Given the description of an element on the screen output the (x, y) to click on. 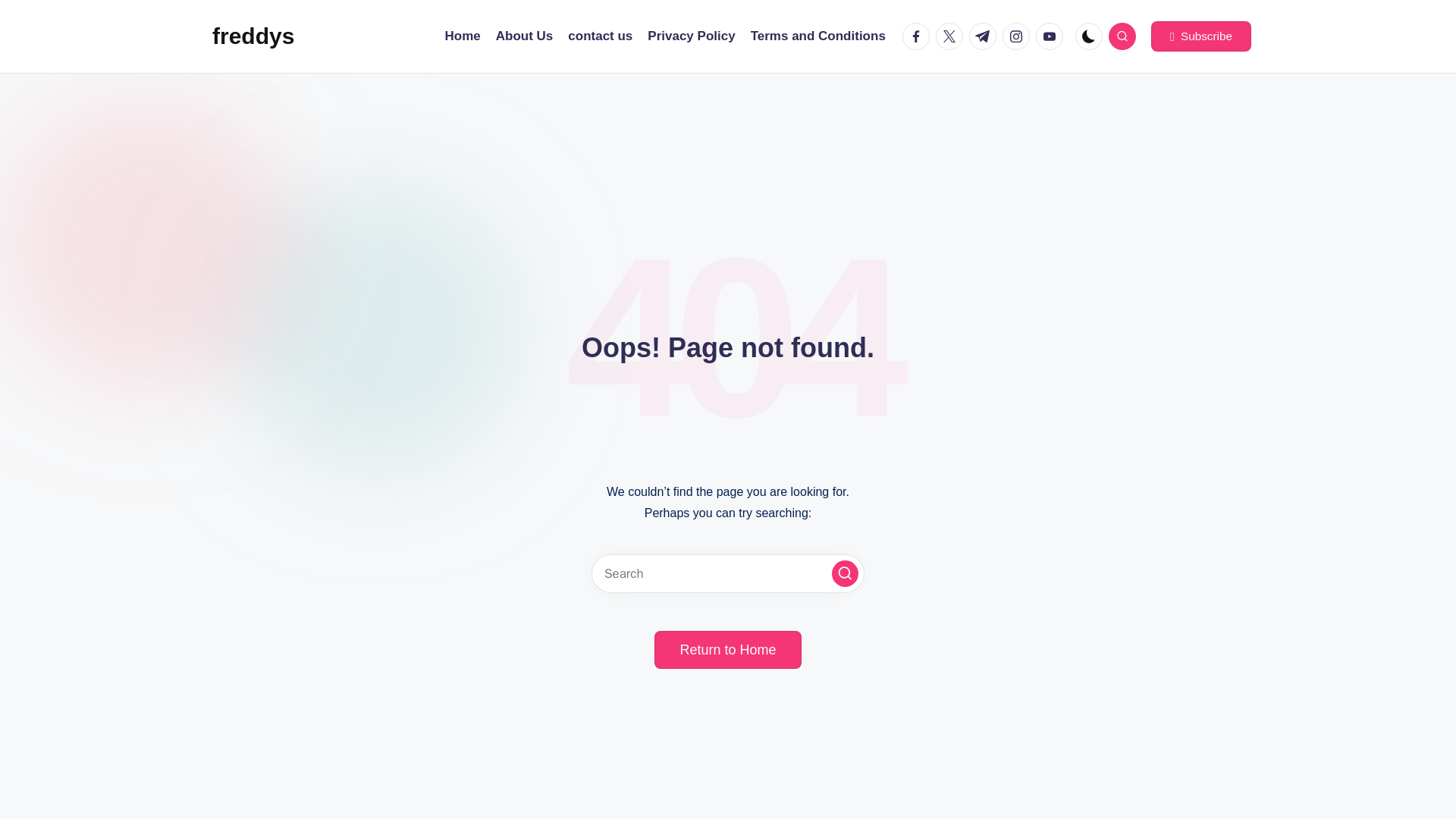
Subscribe (1200, 36)
facebook.com (919, 35)
Terms and Conditions (818, 36)
Privacy Policy (691, 36)
contact us (599, 36)
twitter.com (952, 35)
youtube.com (1051, 35)
Return to Home (726, 649)
t.me (986, 35)
Home (462, 36)
